Given the description of an element on the screen output the (x, y) to click on. 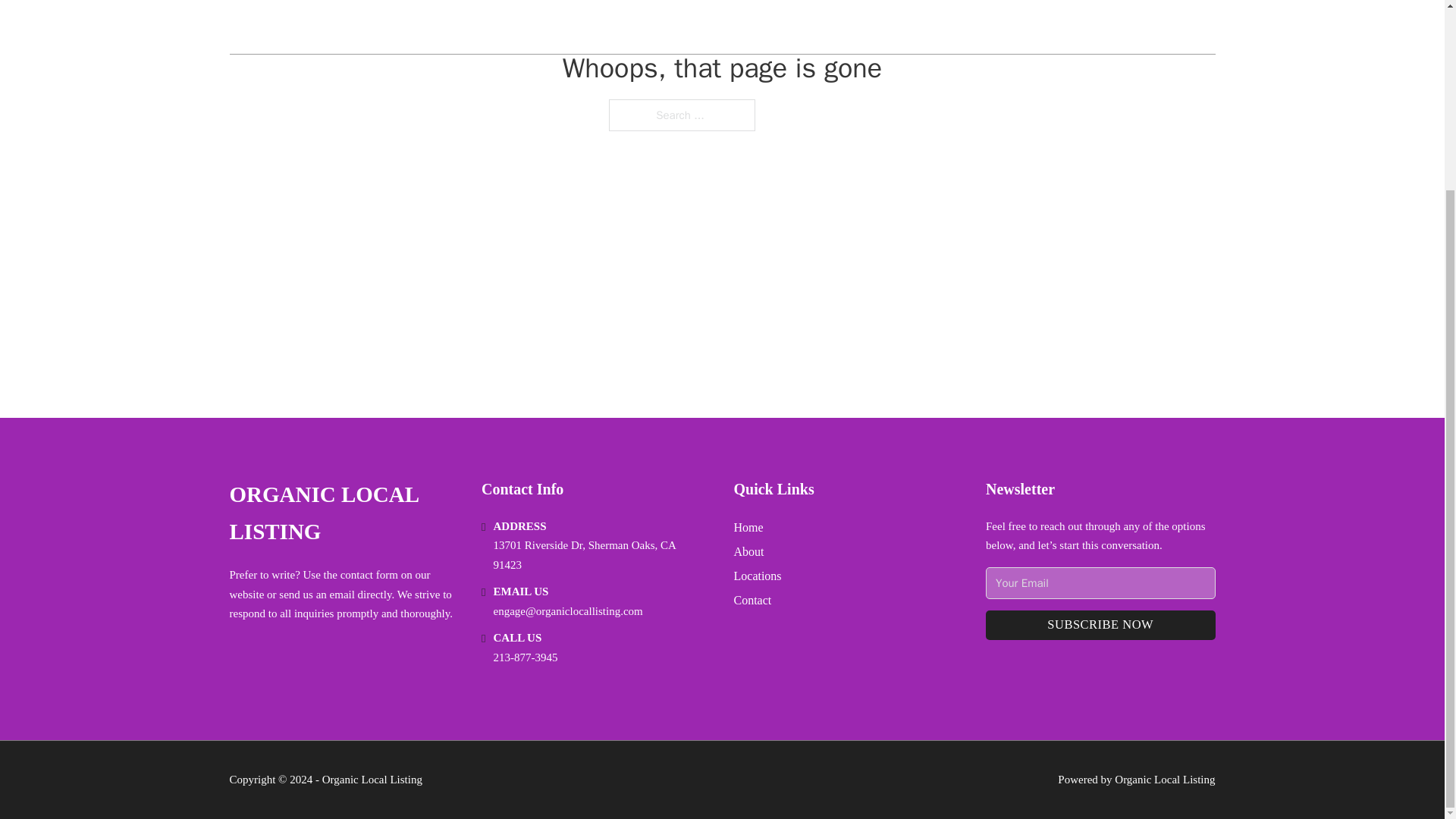
Contact (752, 599)
About (748, 551)
ORGANIC LOCAL LISTING (343, 513)
Locations (757, 575)
Home (747, 526)
SUBSCRIBE NOW (1100, 624)
213-877-3945 (525, 657)
